Given the description of an element on the screen output the (x, y) to click on. 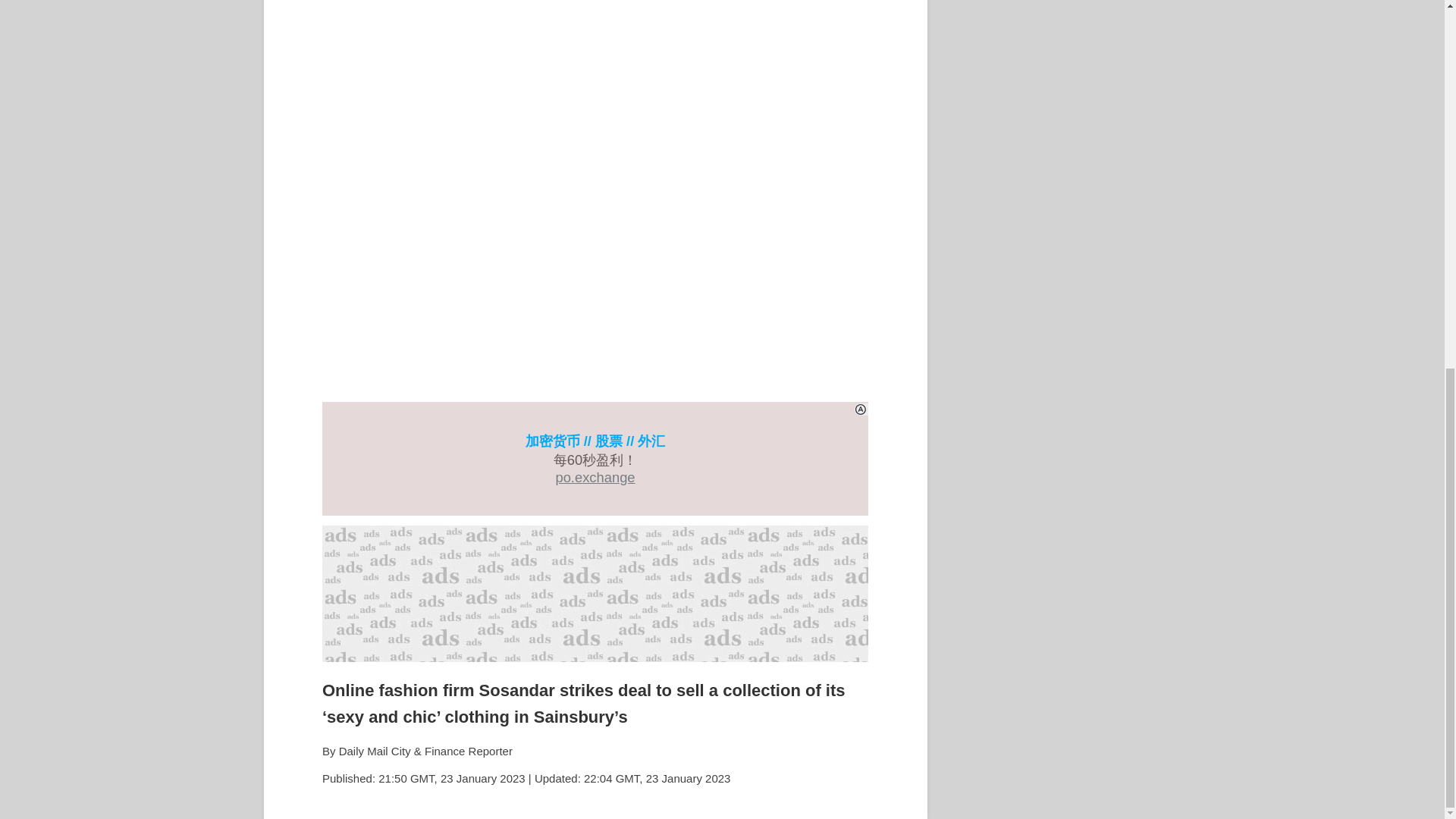
Advertisement (594, 593)
